Given the description of an element on the screen output the (x, y) to click on. 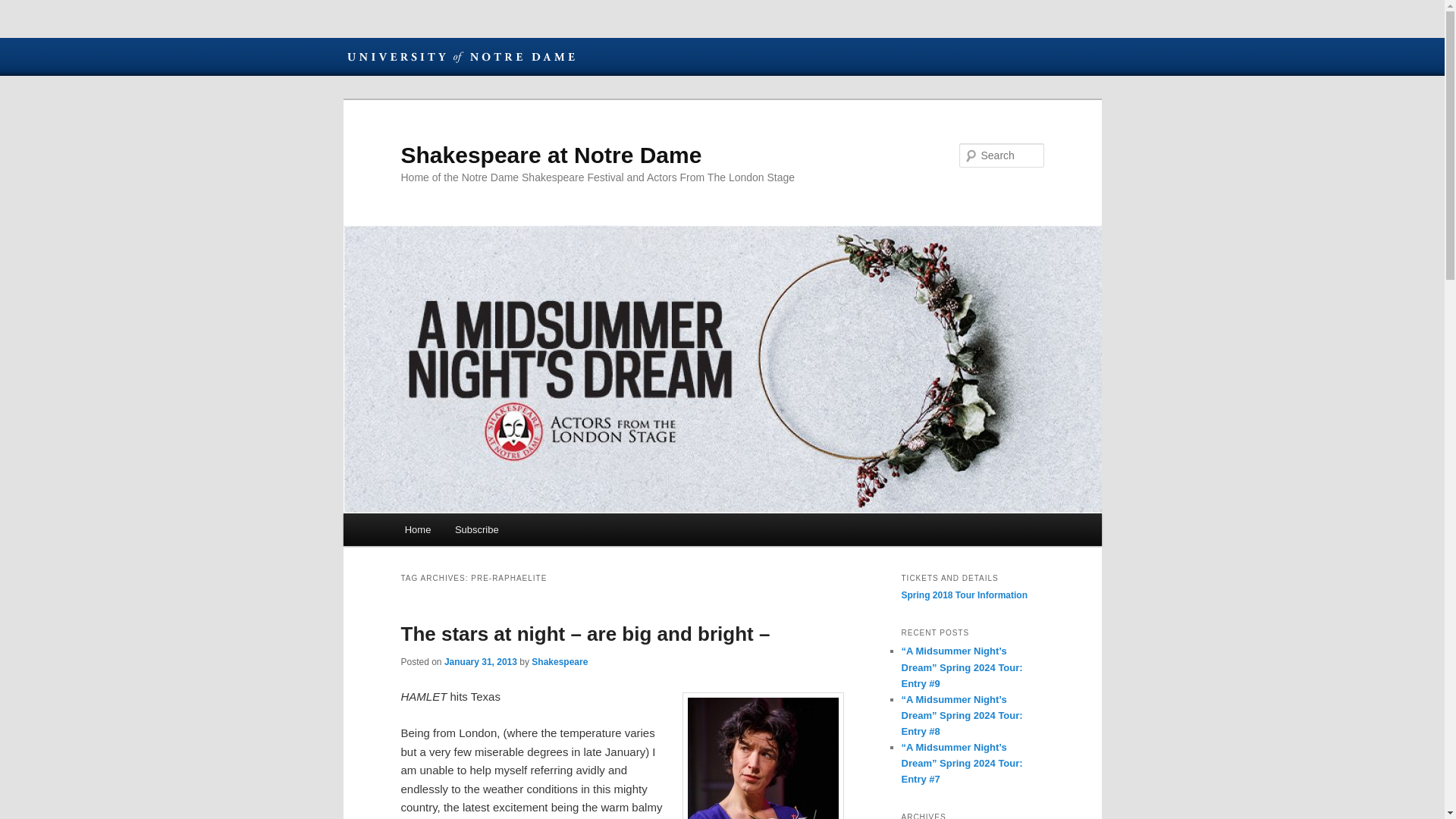
Home (417, 529)
January 31, 2013 (480, 661)
View all posts by Shakespeare (559, 661)
Shakespeare at Notre Dame (550, 154)
9:24 am (480, 661)
Spring 2018 Tour Information (963, 594)
Search (24, 8)
ShunaSnow (763, 755)
Shakespeare (559, 661)
